Given the description of an element on the screen output the (x, y) to click on. 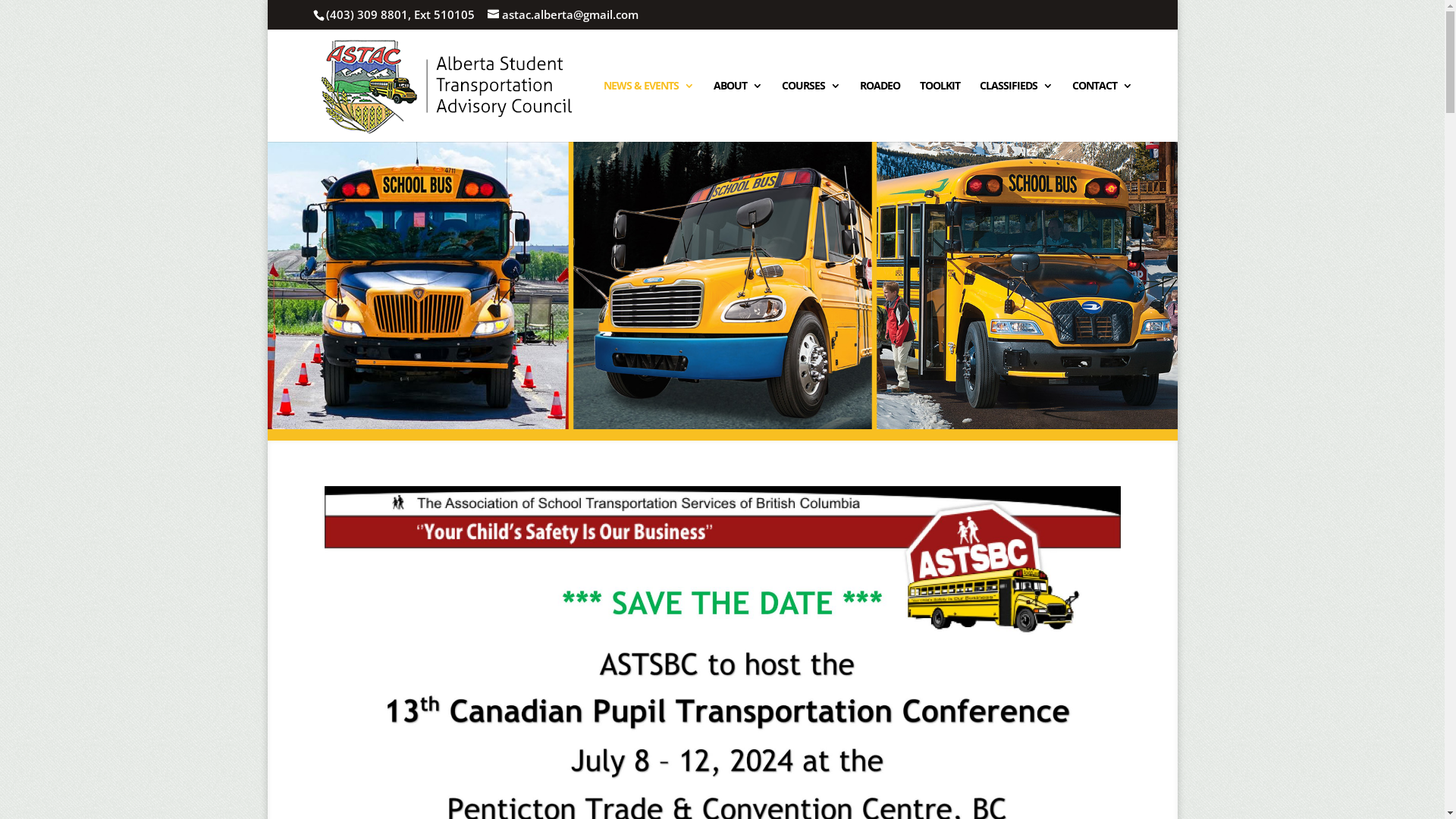
CLASSIFIEDS Element type: text (1015, 110)
ABOUT Element type: text (736, 110)
COURSES Element type: text (810, 110)
NEWS & EVENTS Element type: text (648, 110)
TOOLKIT Element type: text (939, 110)
astac-busses Element type: hover (721, 285)
CONTACT Element type: text (1102, 110)
ROADEO Element type: text (879, 110)
astac.alberta@gmail.com Element type: text (561, 13)
